Given the description of an element on the screen output the (x, y) to click on. 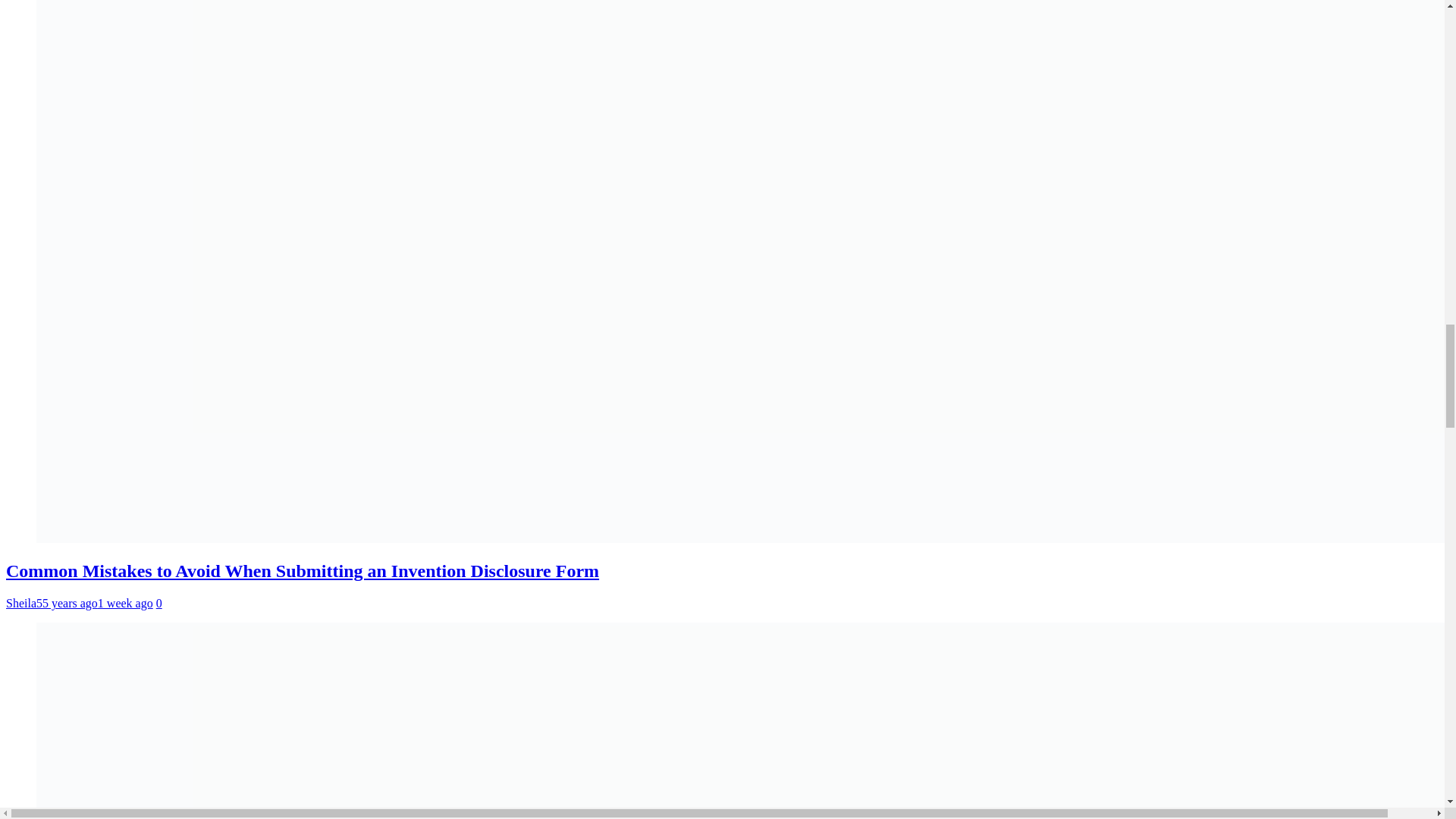
Sheila (20, 603)
55 years ago1 week ago (94, 603)
